Given the description of an element on the screen output the (x, y) to click on. 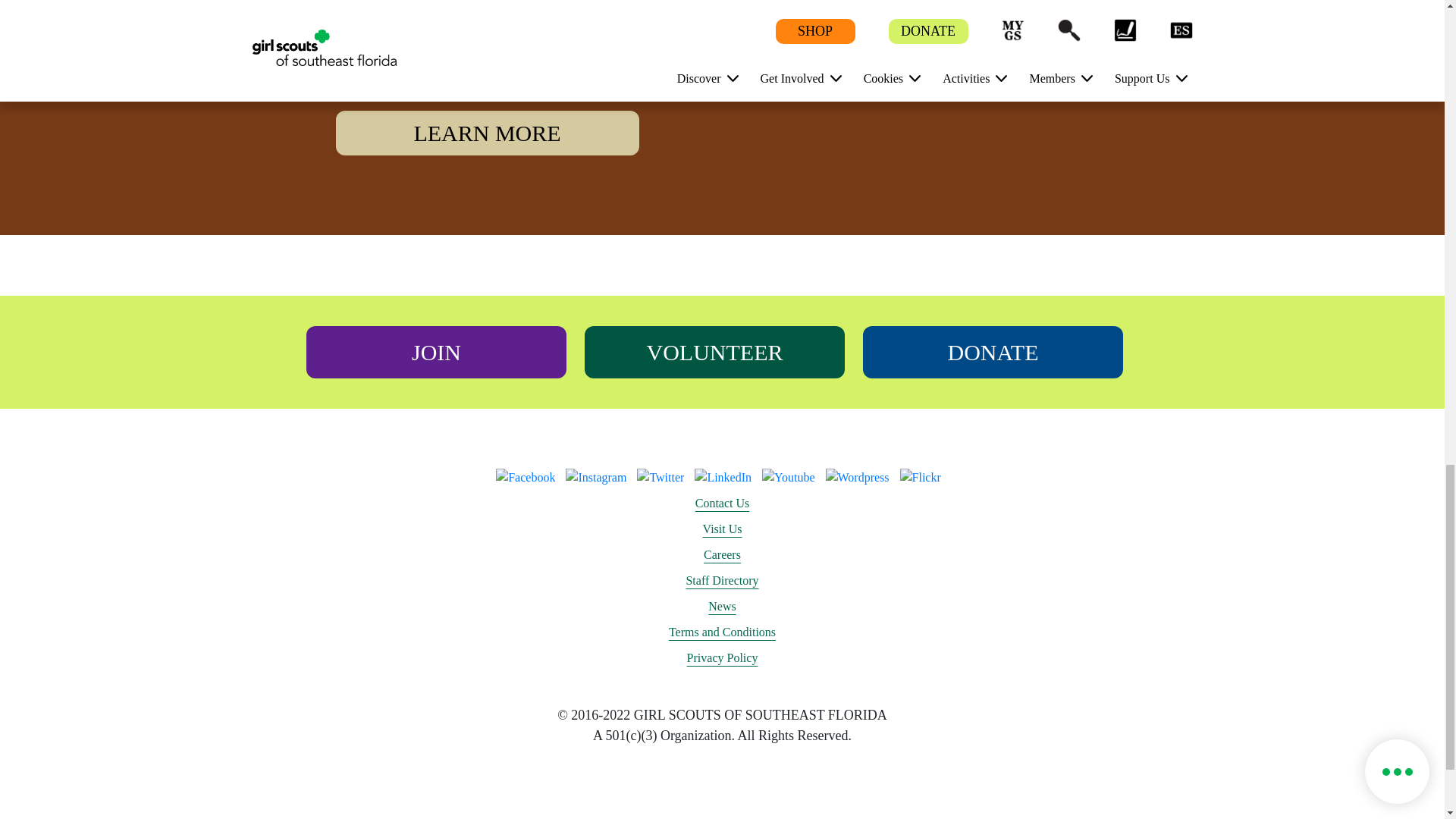
high school girl scout with tote bag outside at park or camp (957, 102)
LEARN MORE (486, 132)
